Given the description of an element on the screen output the (x, y) to click on. 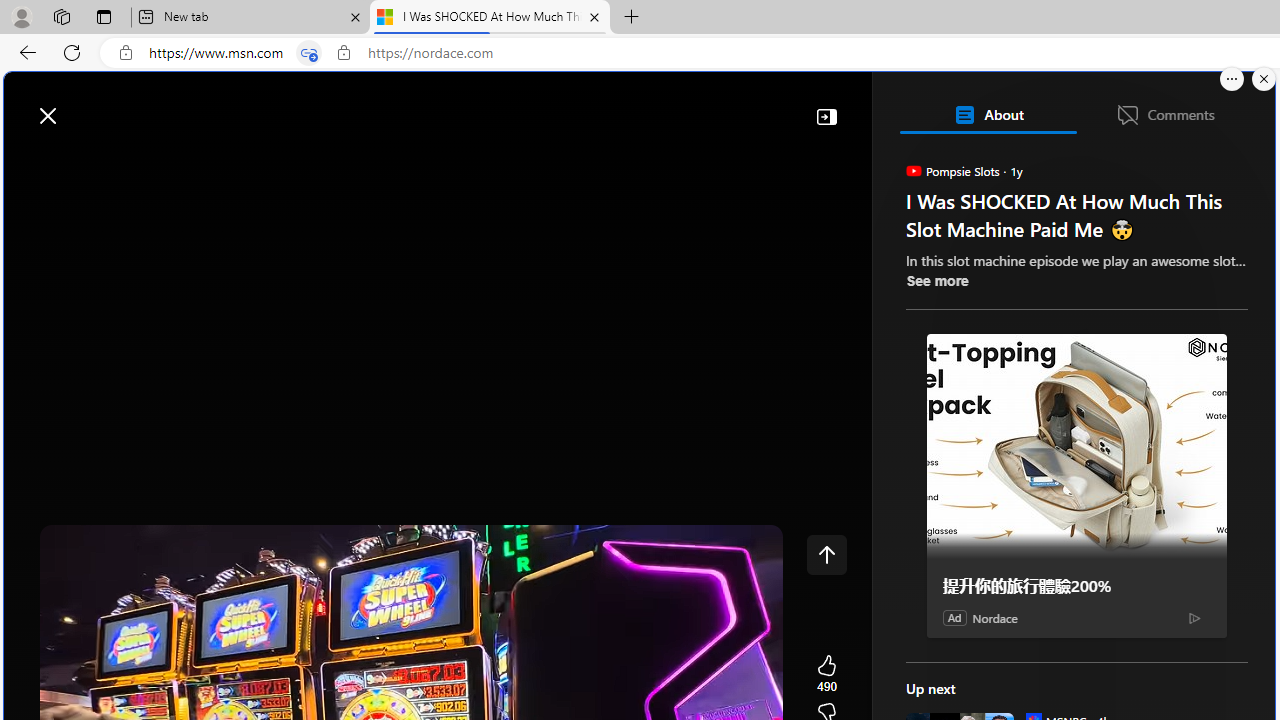
Enter your search term (644, 106)
Comments (1165, 114)
ABC News (974, 557)
Open navigation menu (29, 162)
Tabs in split screen (308, 53)
